Given the description of an element on the screen output the (x, y) to click on. 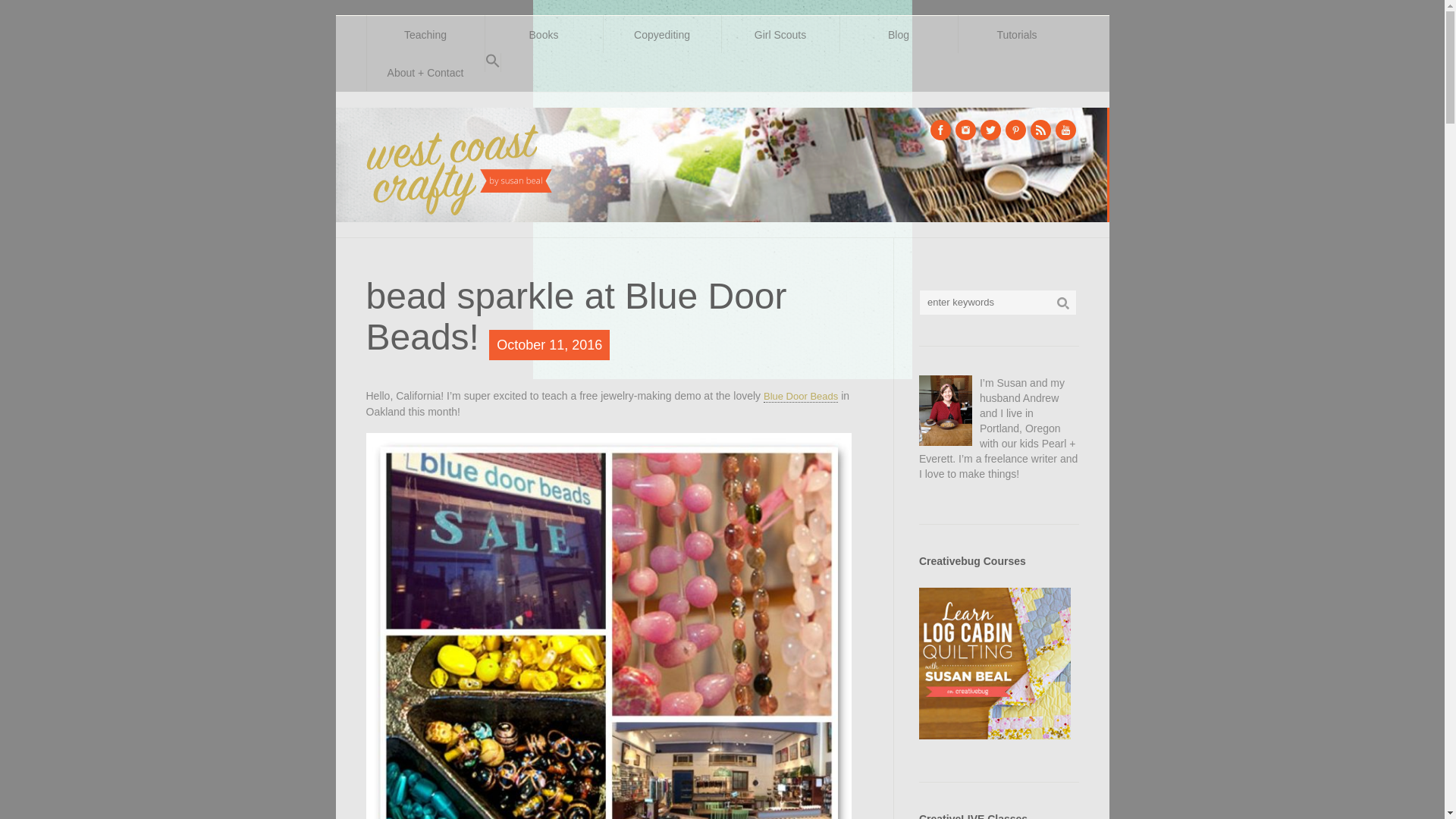
Girl Scouts (779, 34)
Blog (897, 34)
Teaching (424, 34)
West Coast Crafty (459, 164)
Copyediting (661, 34)
bead sparkle at Blue Door Beads! (575, 316)
Tutorials (1015, 34)
Books (542, 34)
Blue Door Beads (800, 396)
